Given the description of an element on the screen output the (x, y) to click on. 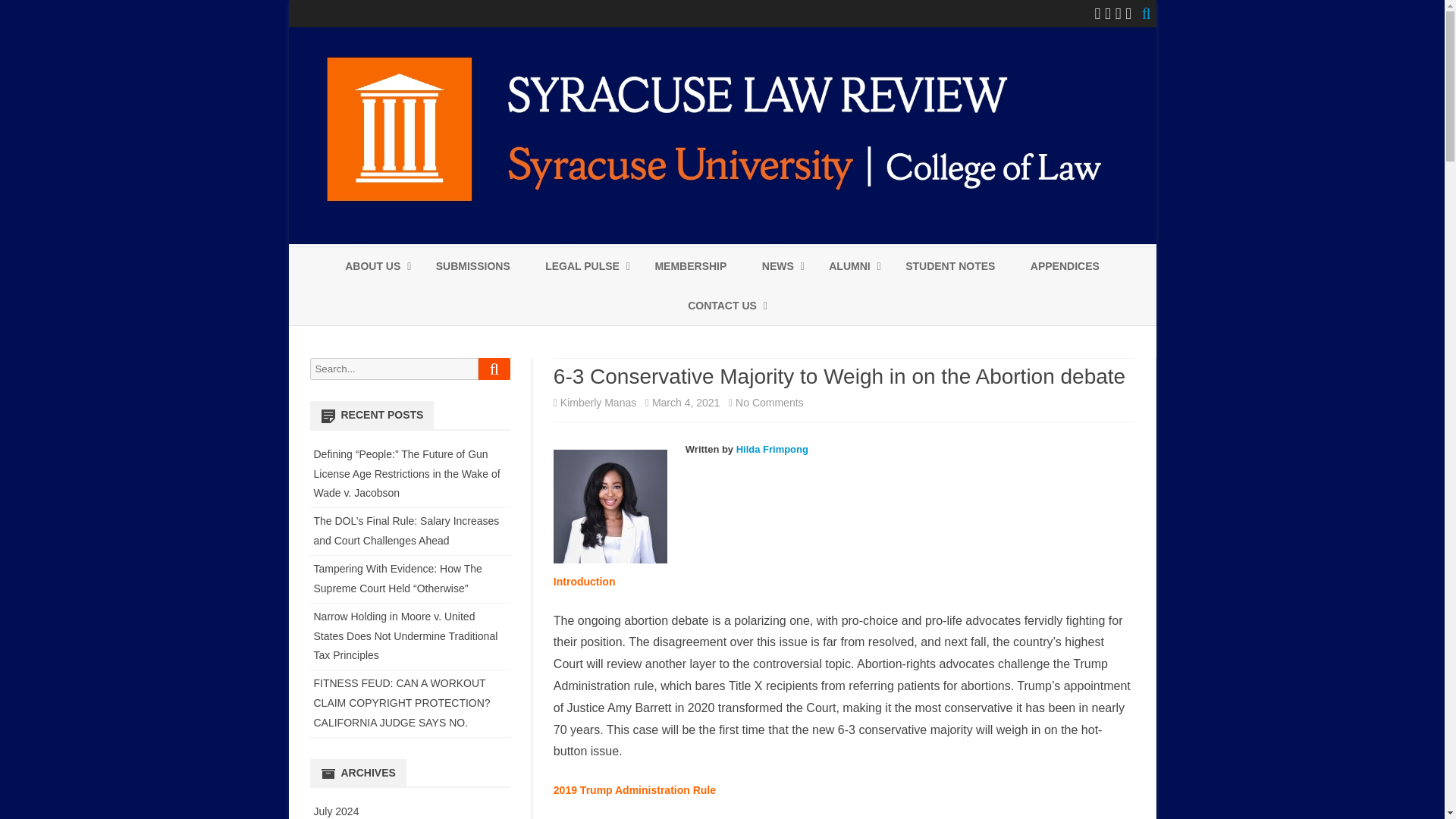
MEMBERSHIP (689, 266)
LEGAL PULSE ARTICLES (620, 301)
ABOUT US (372, 266)
LEGAL PULSE (582, 266)
SUBMISSIONS (473, 266)
EXECUTIVE BOARD (420, 301)
Search for: (392, 368)
